Given the description of an element on the screen output the (x, y) to click on. 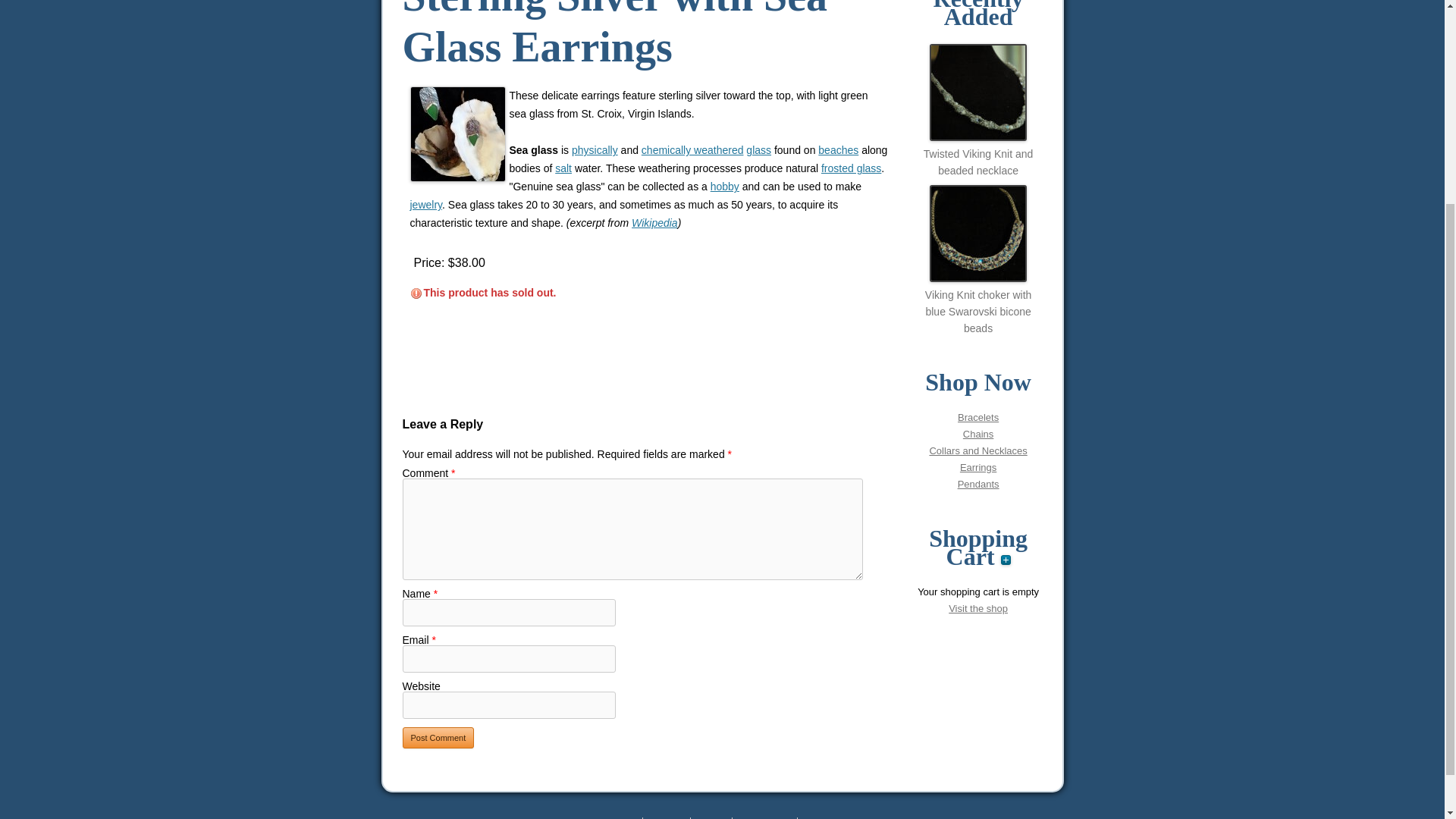
Hobby (724, 186)
hobby (724, 186)
Collars and Necklaces (977, 450)
Frosted glass (850, 168)
Sterling Silver with Sea Glass Earrings (457, 133)
Glass (758, 150)
Pendants (978, 483)
salt (563, 168)
Chemical weathering (693, 150)
Seawater (563, 168)
